Given the description of an element on the screen output the (x, y) to click on. 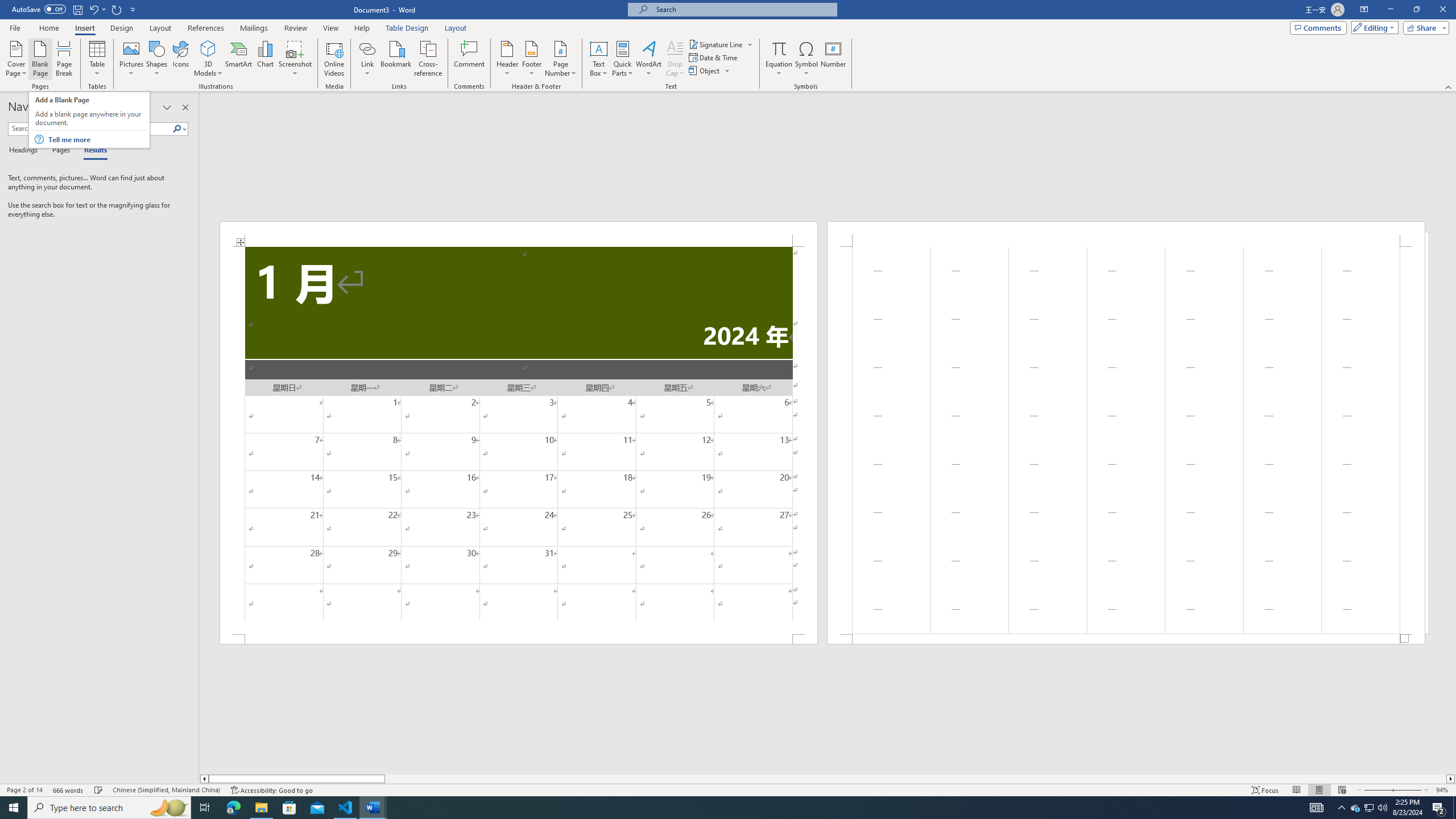
3D Models (208, 58)
Link (367, 48)
Online Videos... (333, 58)
Object... (709, 69)
Blank Page (40, 58)
Cover Page (16, 58)
Equation (778, 58)
